Given the description of an element on the screen output the (x, y) to click on. 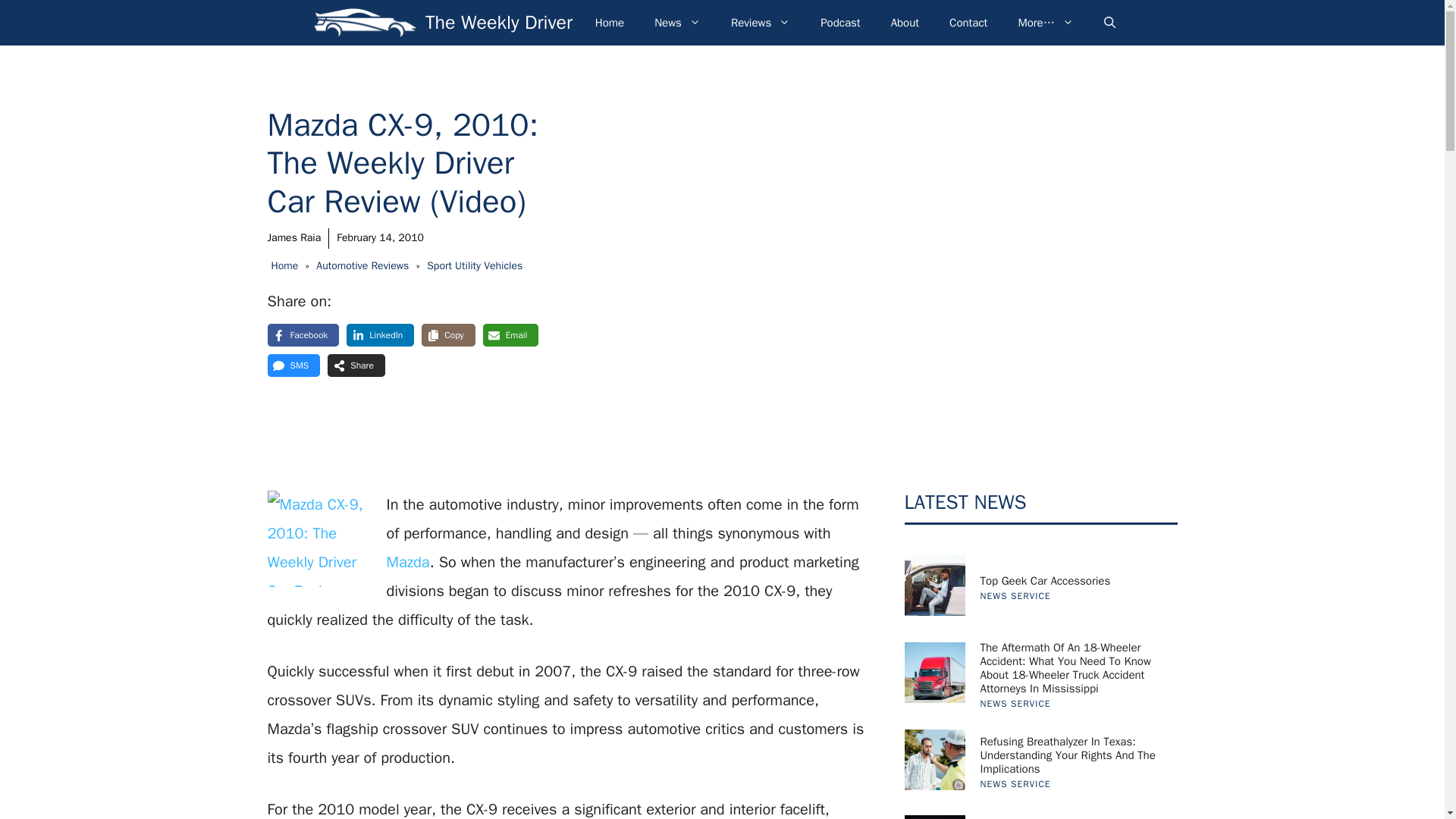
The Weekly Driver (498, 22)
News (677, 22)
Email (510, 334)
Reviews (760, 22)
James Raia (293, 237)
Home (609, 22)
Home (283, 265)
Copy (448, 334)
Automotive Reviews (362, 265)
The Weekly Driver (365, 22)
Facebook (302, 334)
Sport Utility Vehicles (474, 265)
About (905, 22)
Podcast (840, 22)
LinkedIn (379, 334)
